Given the description of an element on the screen output the (x, y) to click on. 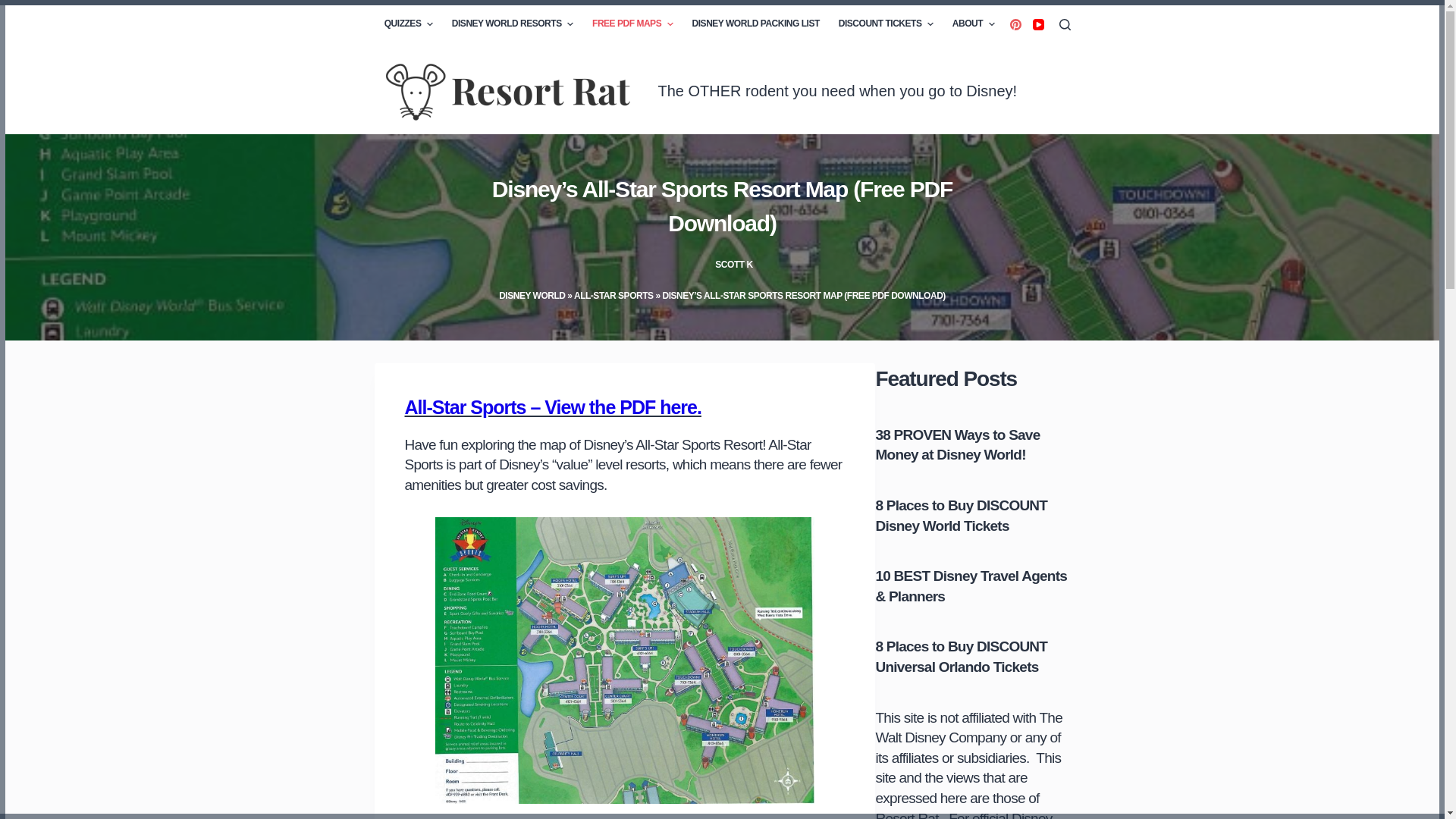
Posts by Scott K (733, 264)
Skip to content (15, 7)
